Given the description of an element on the screen output the (x, y) to click on. 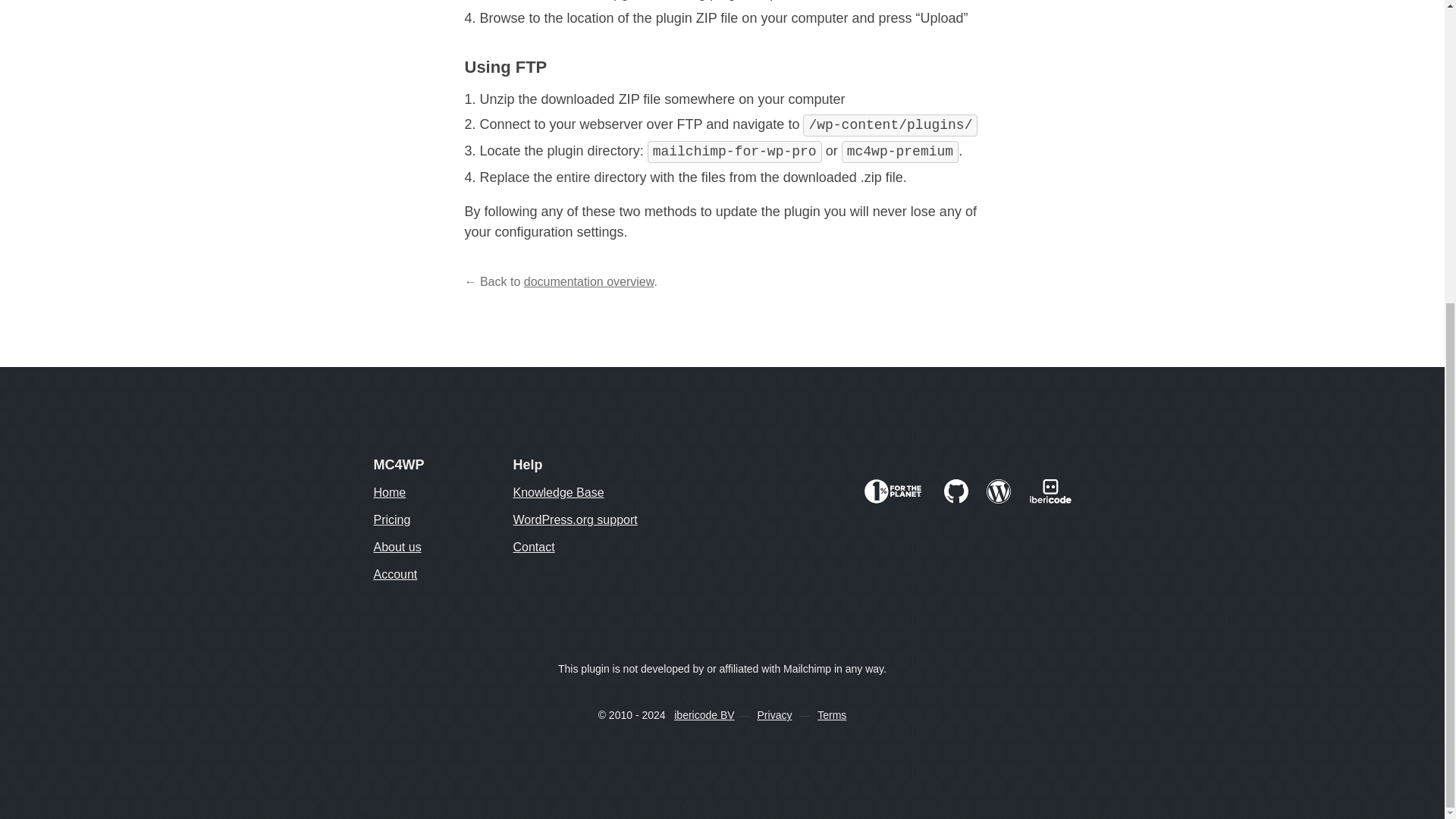
About us (442, 549)
WordPress.org support (582, 522)
Account (442, 576)
Knowledge Base (582, 495)
Terms (830, 715)
documentation overview (588, 281)
Contact (582, 549)
Home (442, 495)
Pricing (442, 522)
ibericode BV (703, 715)
